Given the description of an element on the screen output the (x, y) to click on. 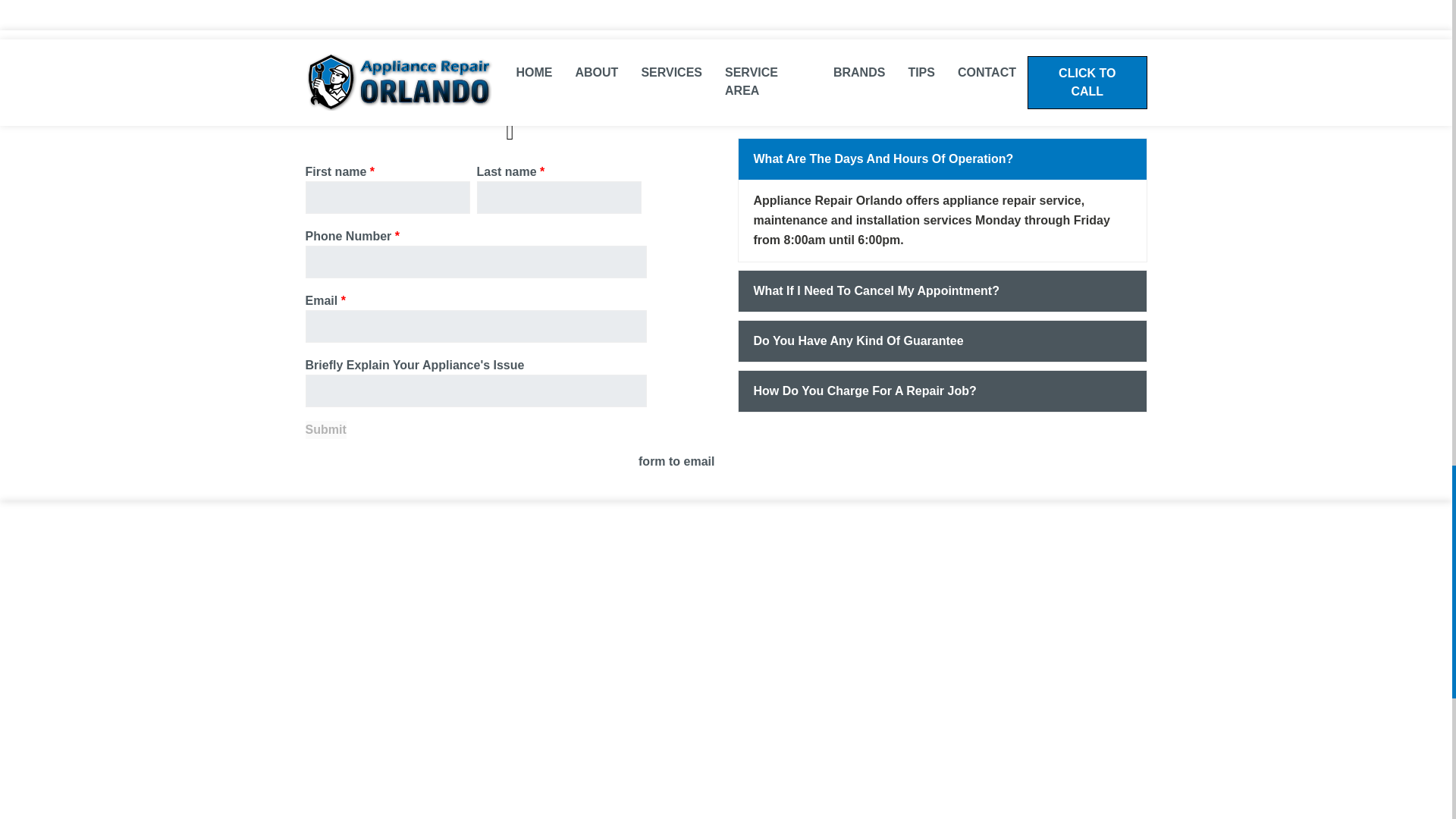
form to email (676, 461)
Do You Have Any Kind Of Guarantee (942, 341)
form to email (676, 461)
Submit (325, 429)
How Do You Charge For A Repair Job? (942, 391)
What If I Need To Cancel My Appointment? (942, 291)
What Are The Days And Hours Of Operation? (942, 158)
Submit (325, 429)
